Given the description of an element on the screen output the (x, y) to click on. 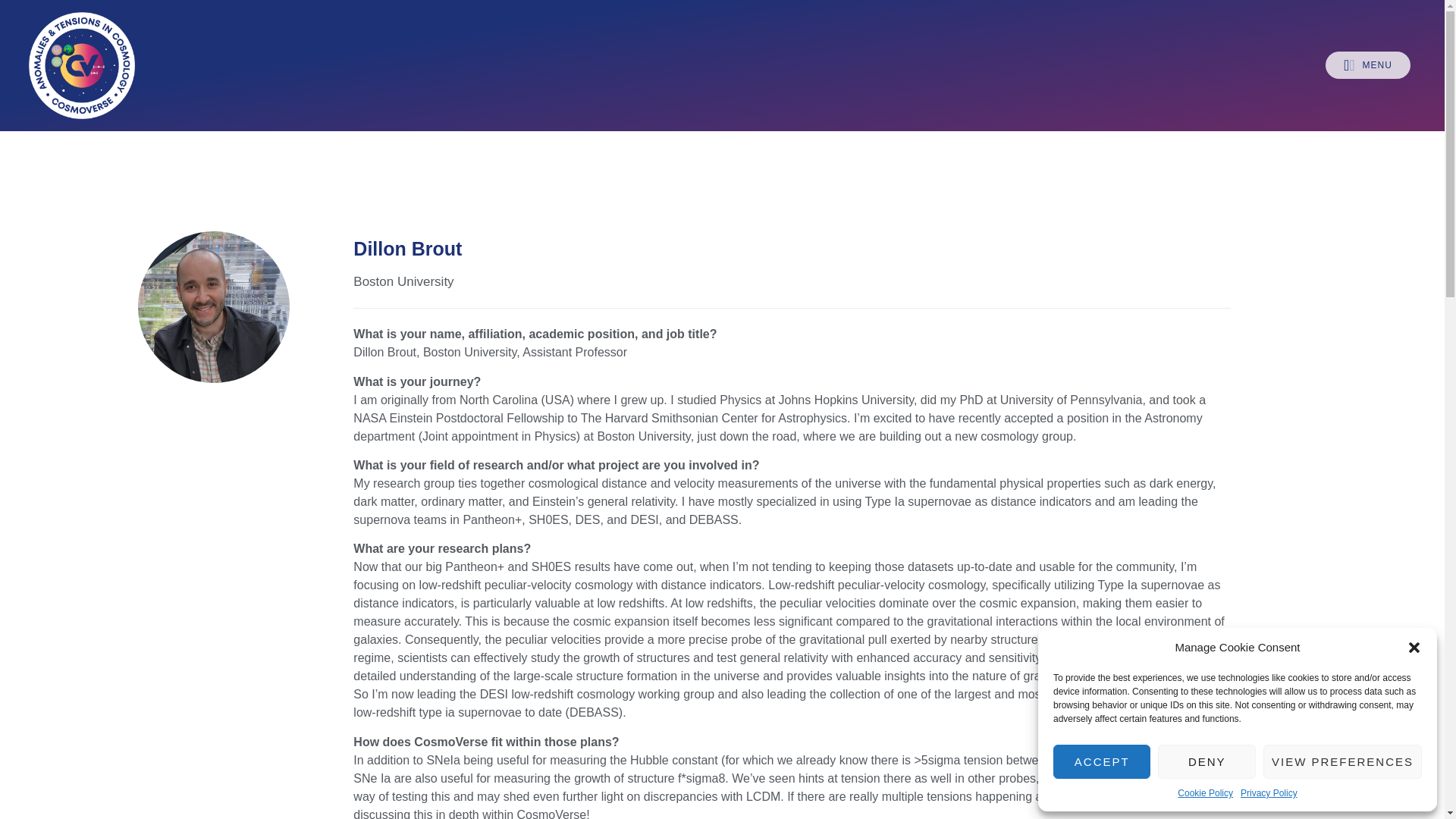
VIEW PREFERENCES (1342, 761)
Privacy Policy (1268, 793)
Cookie Policy (1205, 793)
ACCEPT (1101, 761)
DENY (1206, 761)
